Given the description of an element on the screen output the (x, y) to click on. 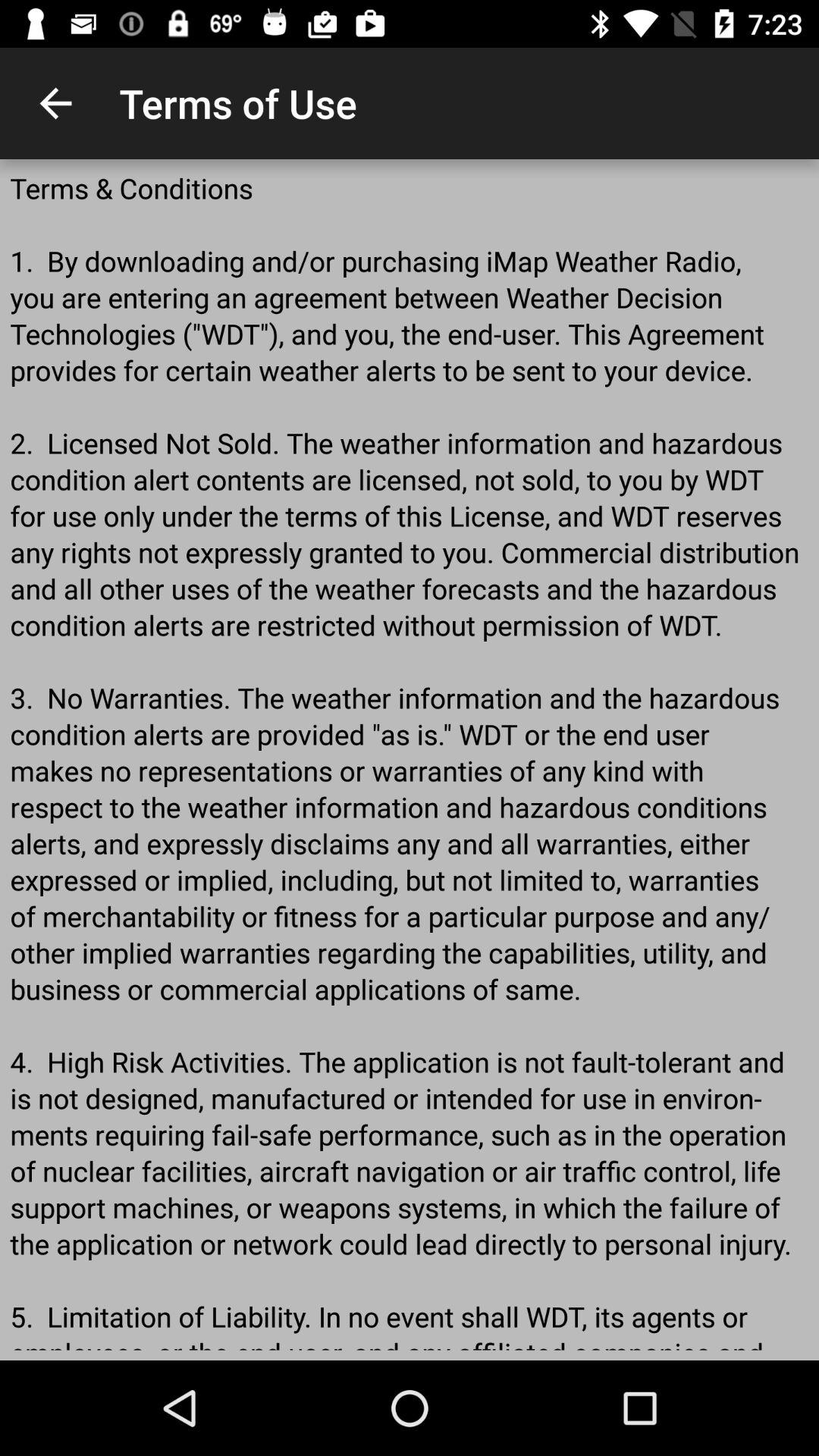
open the item to the left of the terms of use app (55, 103)
